Given the description of an element on the screen output the (x, y) to click on. 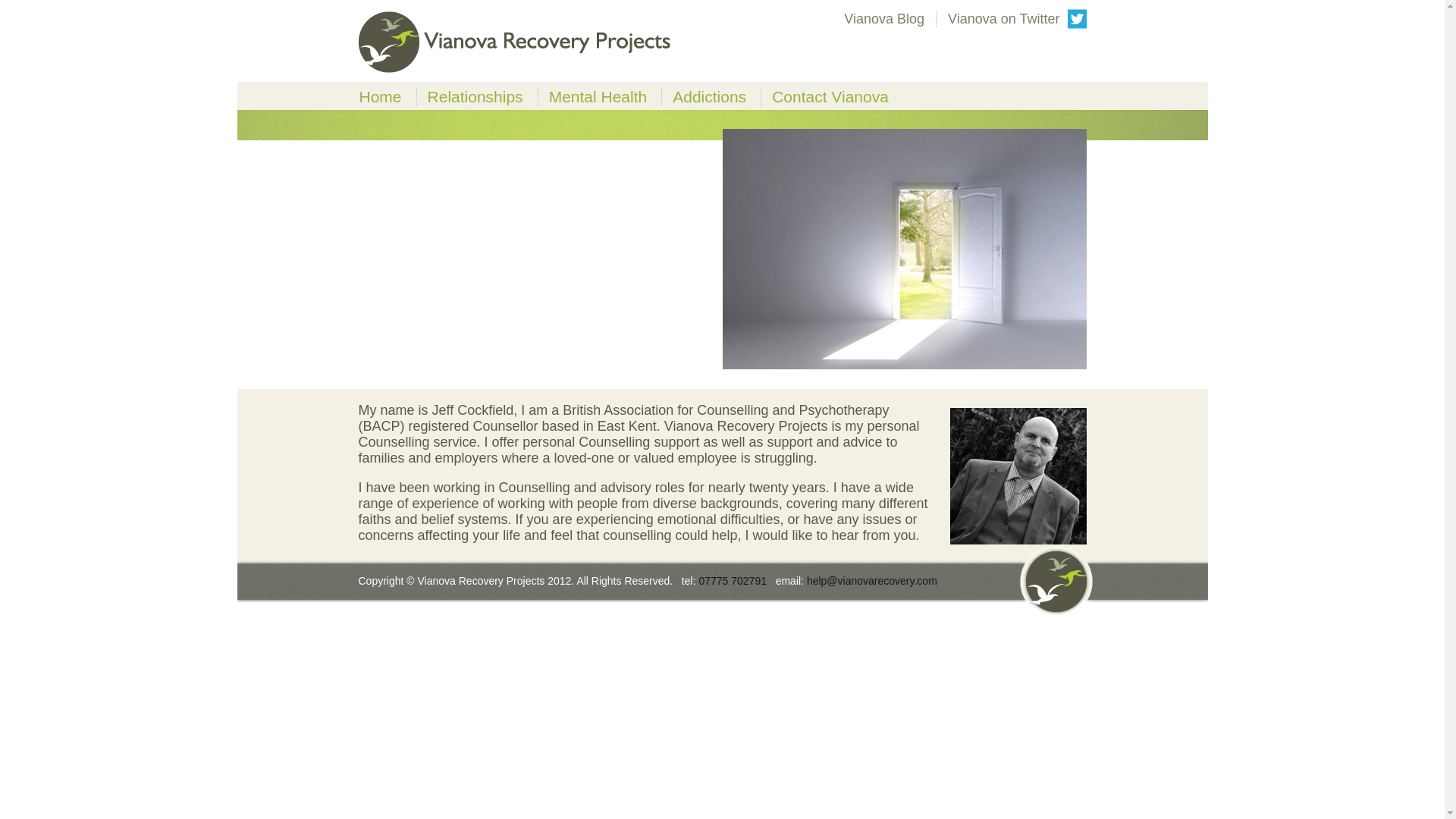
Back to homepage (380, 96)
Addictions (709, 96)
Relationships (475, 96)
Counselling and Therapy in Eastern Kent (513, 41)
Addiction advice menu (709, 96)
Home (380, 96)
Vianova Recovery Projects (513, 41)
Contact Vianova (830, 96)
Vianova on Twitter (1016, 18)
Mental Health (598, 96)
Contact Vianova (830, 96)
Follow us on Twitter (1016, 18)
Email Vianova (871, 580)
Vianova Blog (883, 18)
Vianova Recovery Projects blog (883, 18)
